Given the description of an element on the screen output the (x, y) to click on. 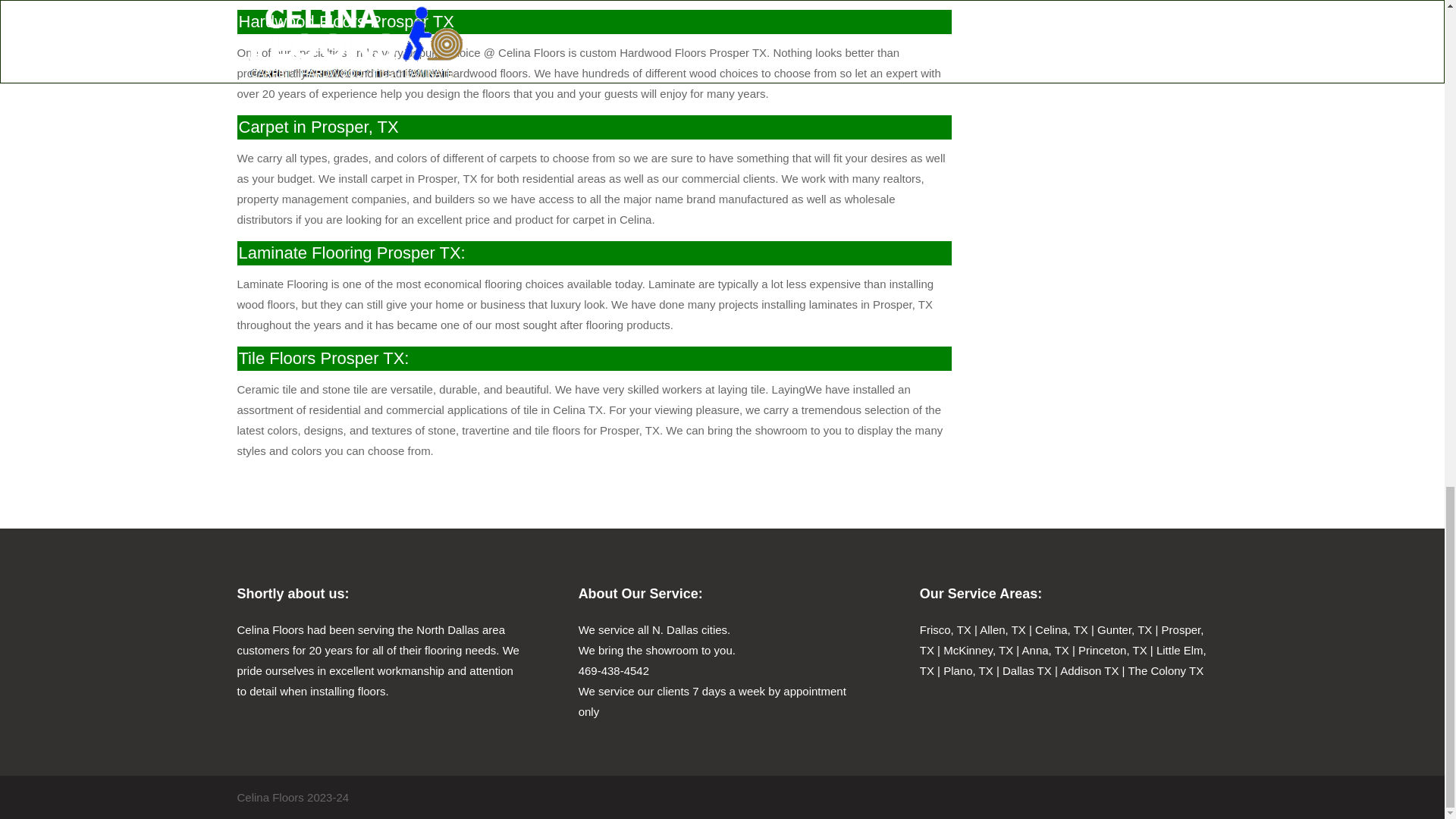
Prosper, TX (1062, 639)
Addison TX (1088, 670)
Plano, TX (967, 670)
Gunter, TX (1124, 629)
Little Elm, TX (1063, 660)
Anna, TX (1045, 649)
McKinney, TX (978, 649)
Princeton, TX (1112, 649)
Allen, TX (1002, 629)
Celina, TX (1061, 629)
The Colony TX (1165, 670)
Frisco, TX (945, 629)
Dallas TX (1027, 670)
